Given the description of an element on the screen output the (x, y) to click on. 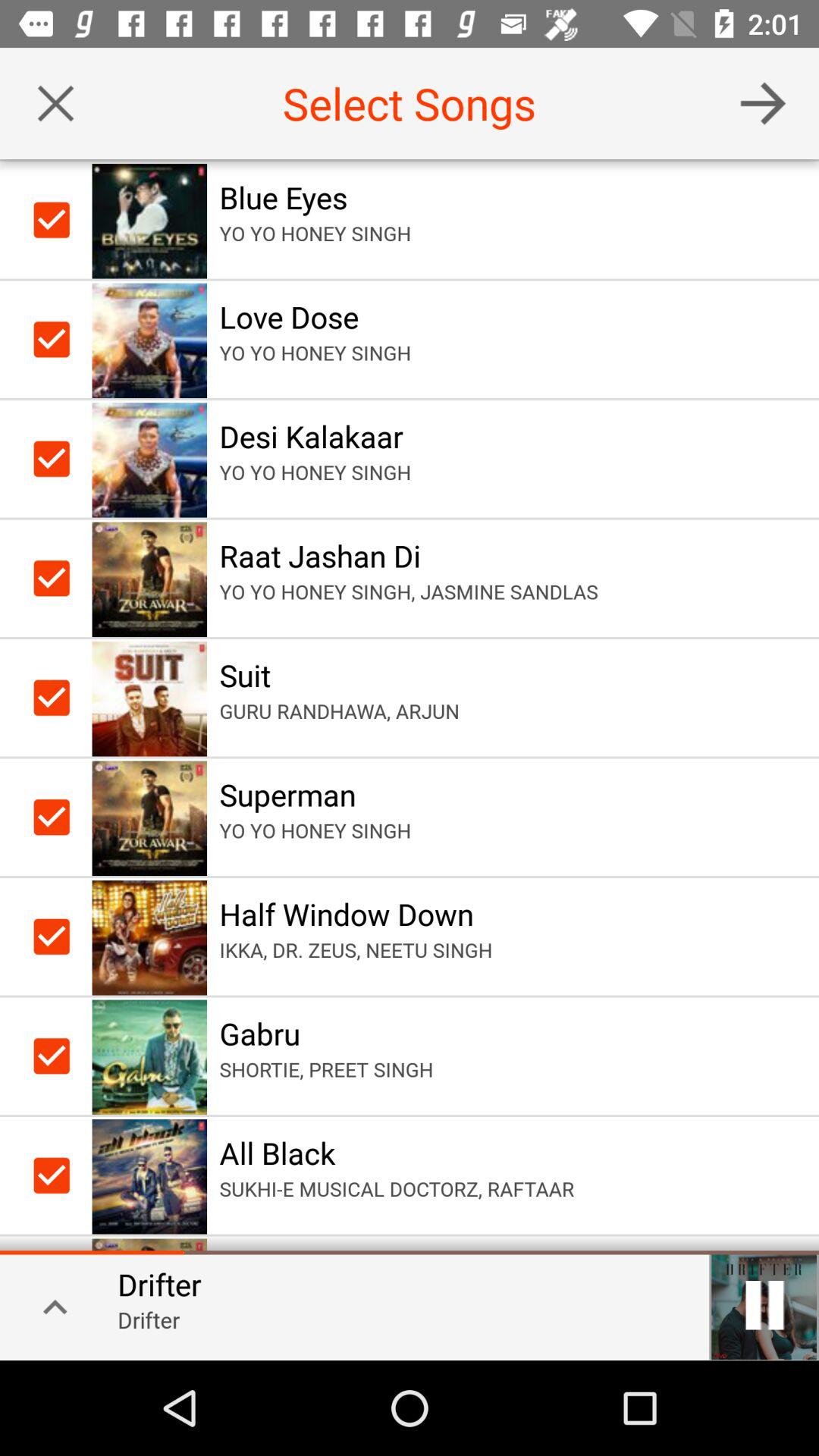
go forward (763, 103)
